Given the description of an element on the screen output the (x, y) to click on. 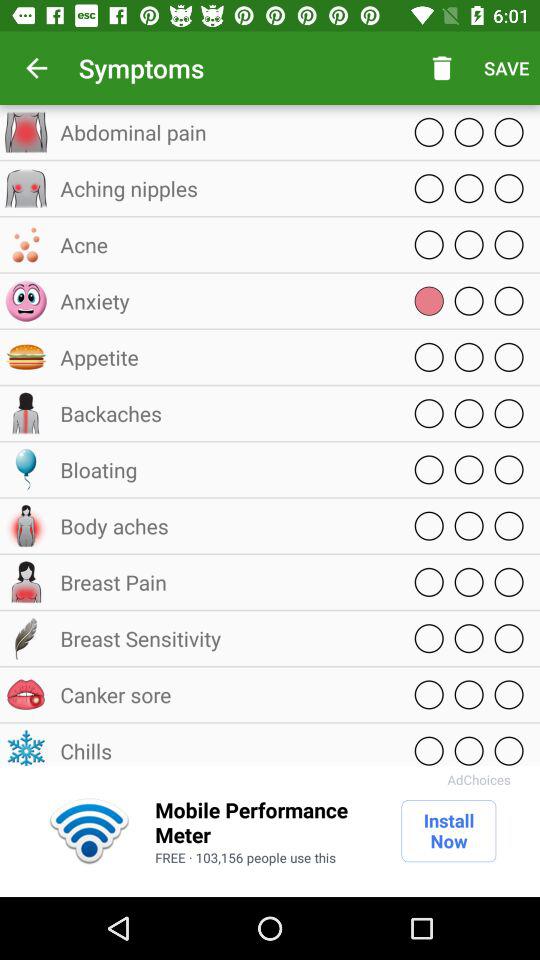
launch icon above backaches icon (225, 357)
